Given the description of an element on the screen output the (x, y) to click on. 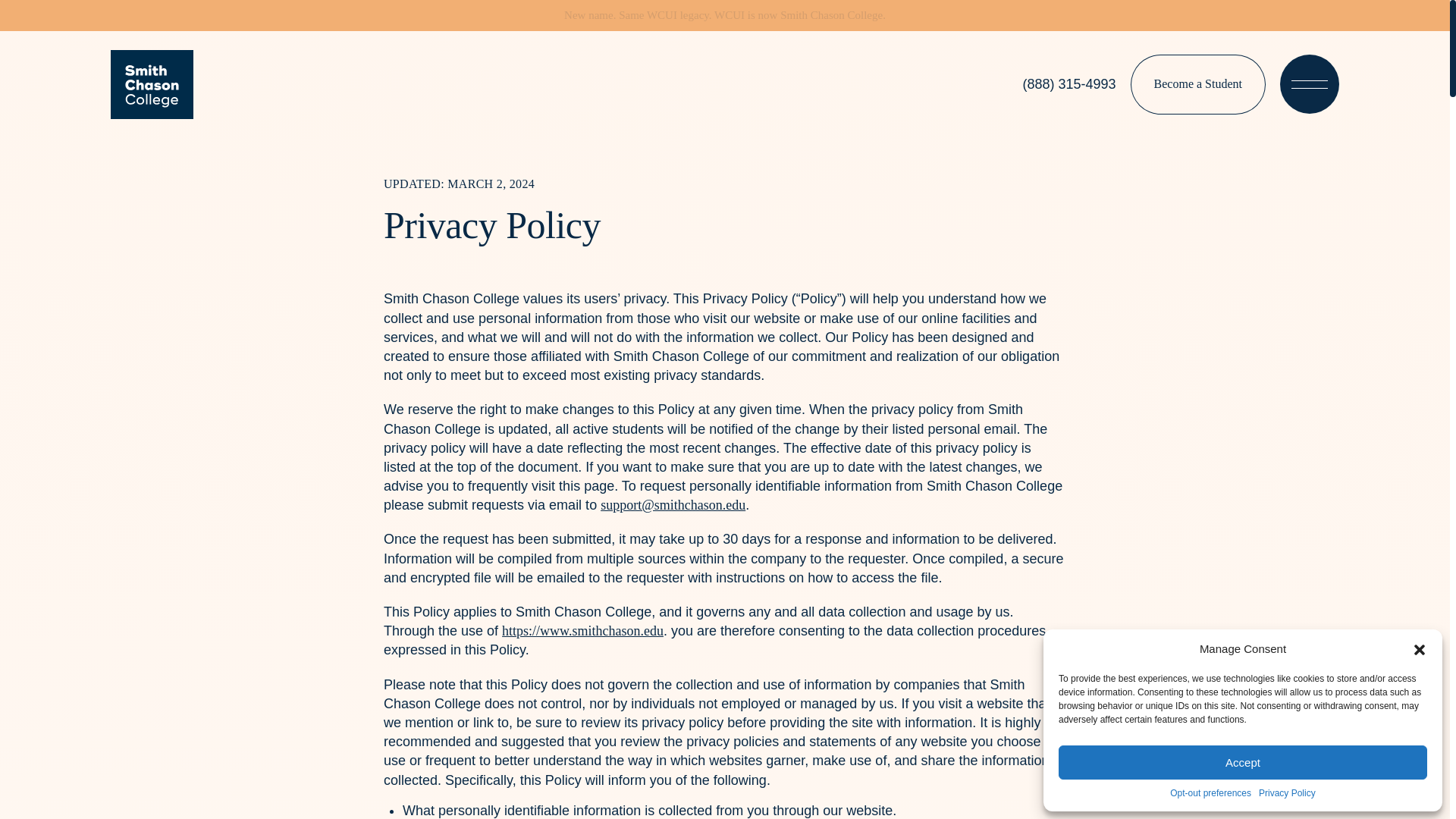
Privacy Policy (1287, 793)
Accept (1242, 762)
Opt-out preferences (1210, 793)
Become a Student (1198, 84)
